Given the description of an element on the screen output the (x, y) to click on. 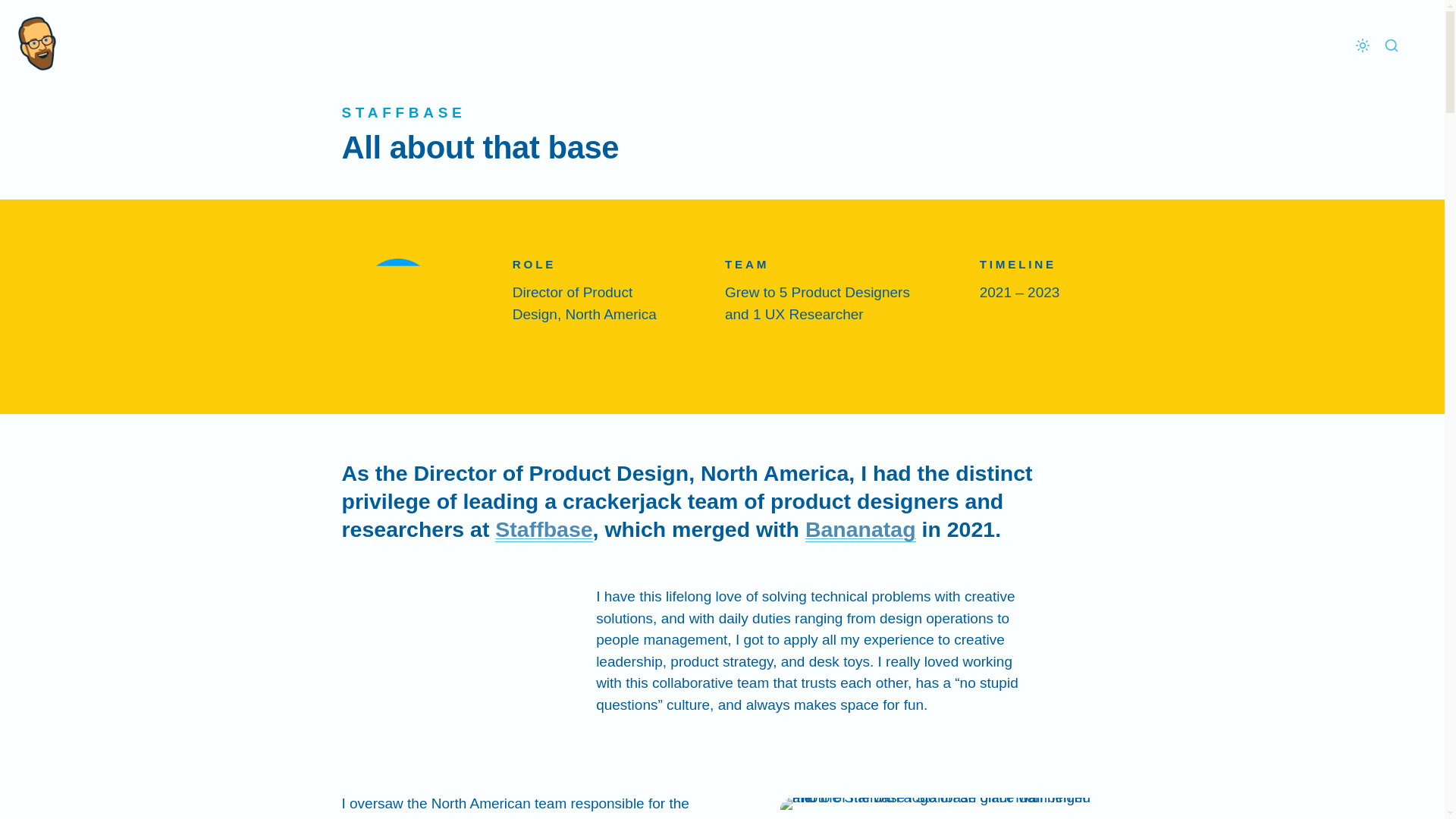
Staffbase (543, 529)
Staffbase Email product (416, 817)
Bananatag (860, 529)
